Given the description of an element on the screen output the (x, y) to click on. 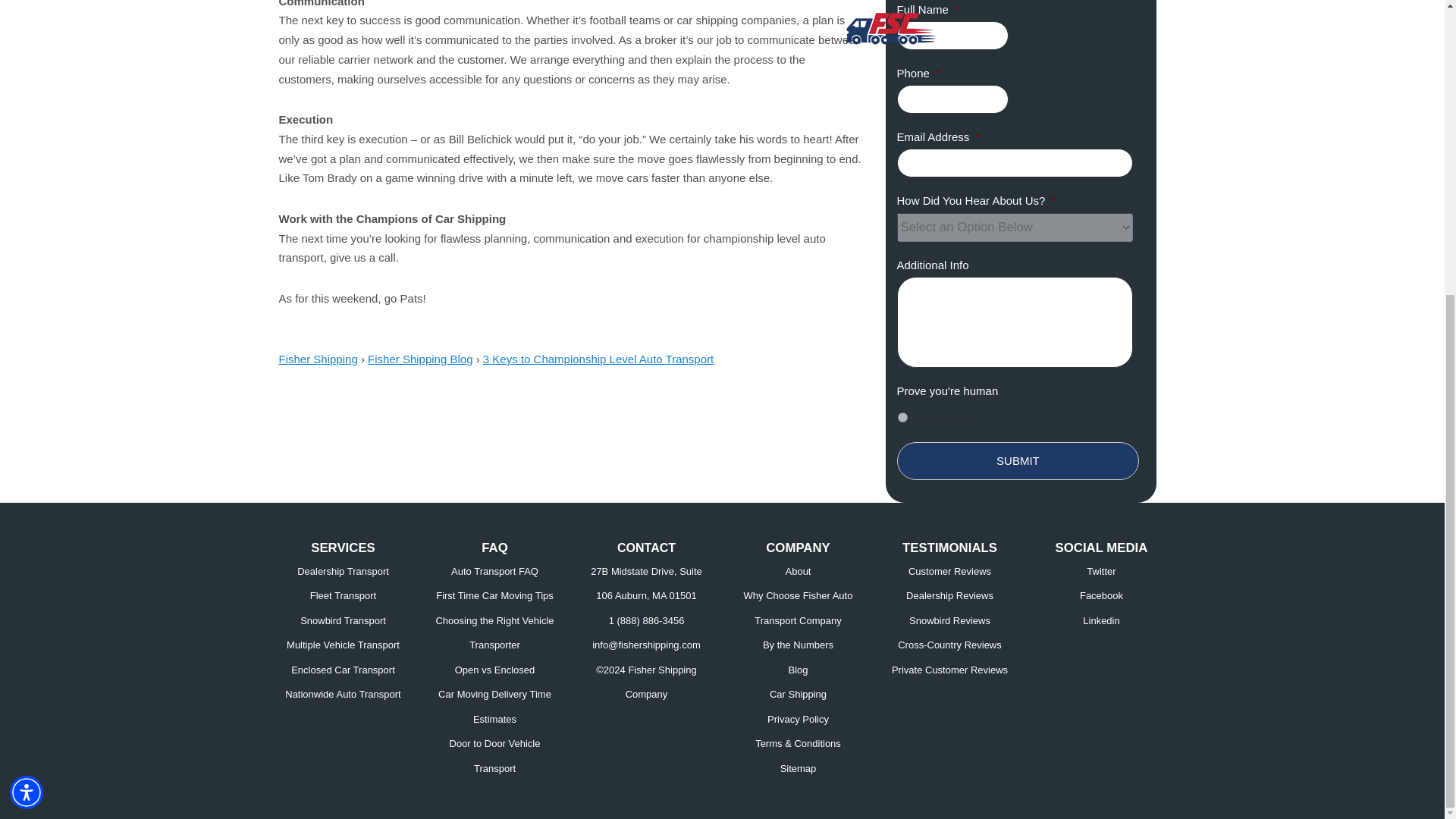
Dealership Transport (342, 571)
Submit (1017, 460)
Fleet Transport (342, 595)
3 Keys to Championship Level Auto Transport (598, 358)
I am human! (902, 417)
Submit (1017, 460)
Fisher Shipping Blog (419, 358)
Accessibility Menu (26, 338)
Snowbird Transport (342, 620)
Fisher Shipping (318, 368)
Multiple Vehicle Transport (342, 644)
